Given the description of an element on the screen output the (x, y) to click on. 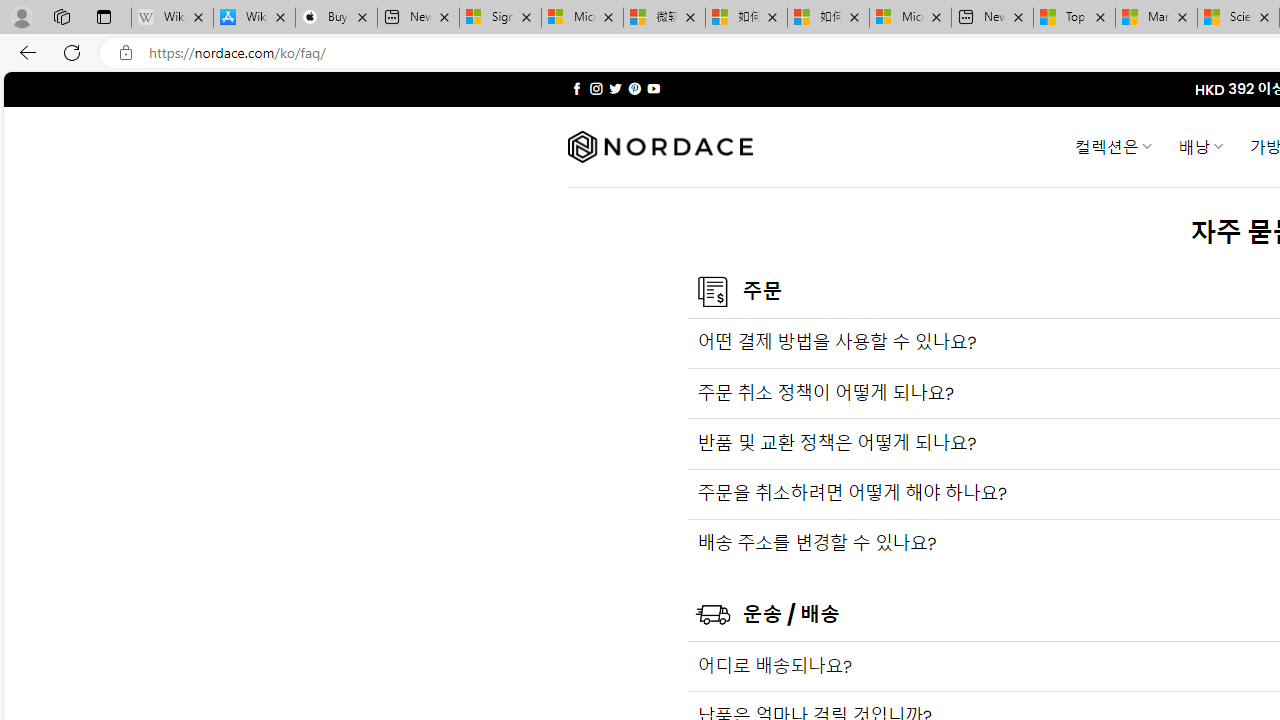
Follow on Facebook (576, 88)
Follow on Twitter (615, 88)
